Given the description of an element on the screen output the (x, y) to click on. 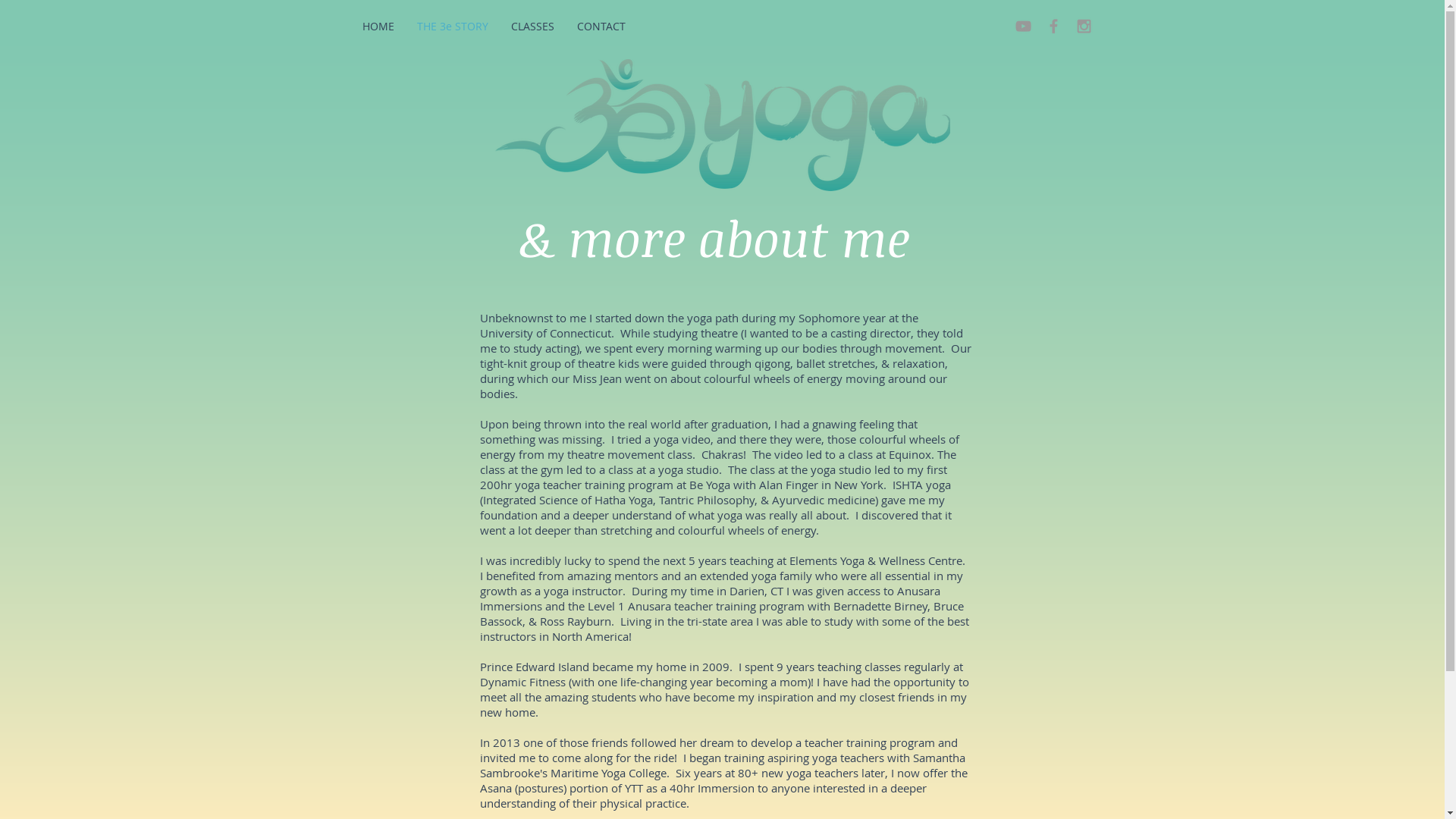
CONTACT Element type: text (601, 26)
CLASSES Element type: text (531, 26)
THE 3e STORY Element type: text (451, 26)
HOME Element type: text (377, 26)
